Given the description of an element on the screen output the (x, y) to click on. 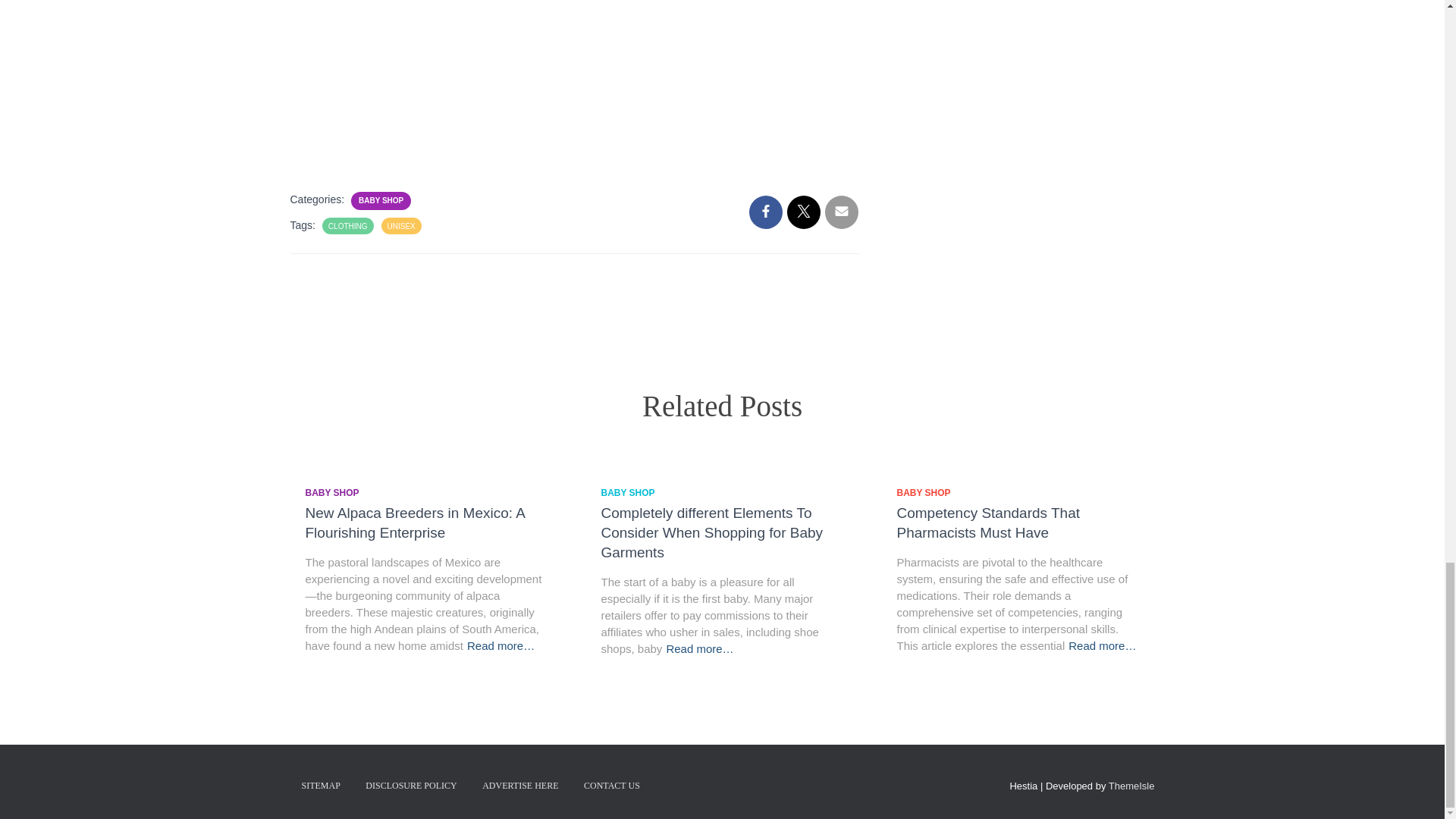
BABY SHOP (380, 200)
CLOTHING (348, 225)
UNISEX (400, 225)
